Given the description of an element on the screen output the (x, y) to click on. 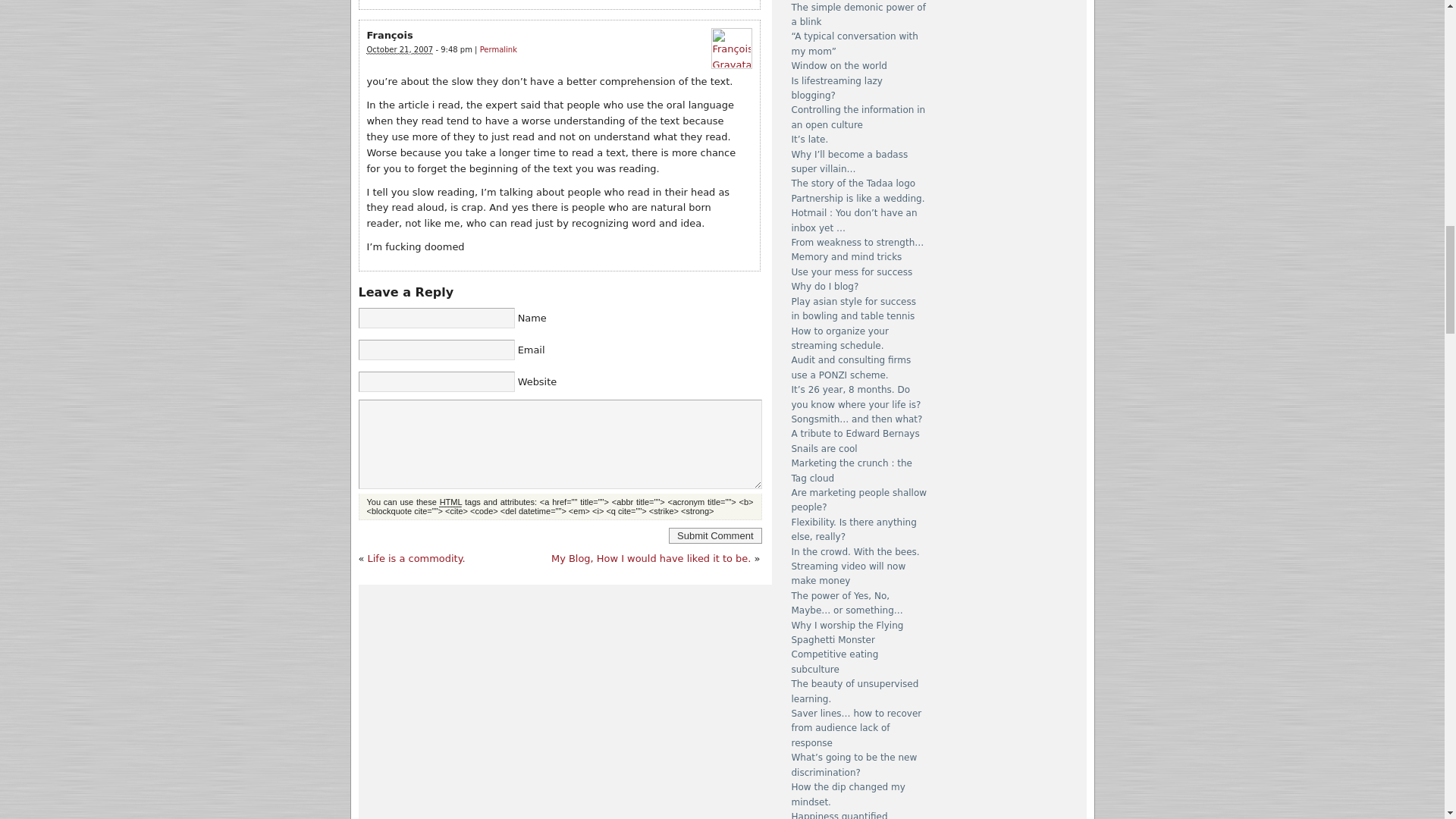
Permalink (498, 49)
Submit Comment (714, 535)
